Given the description of an element on the screen output the (x, y) to click on. 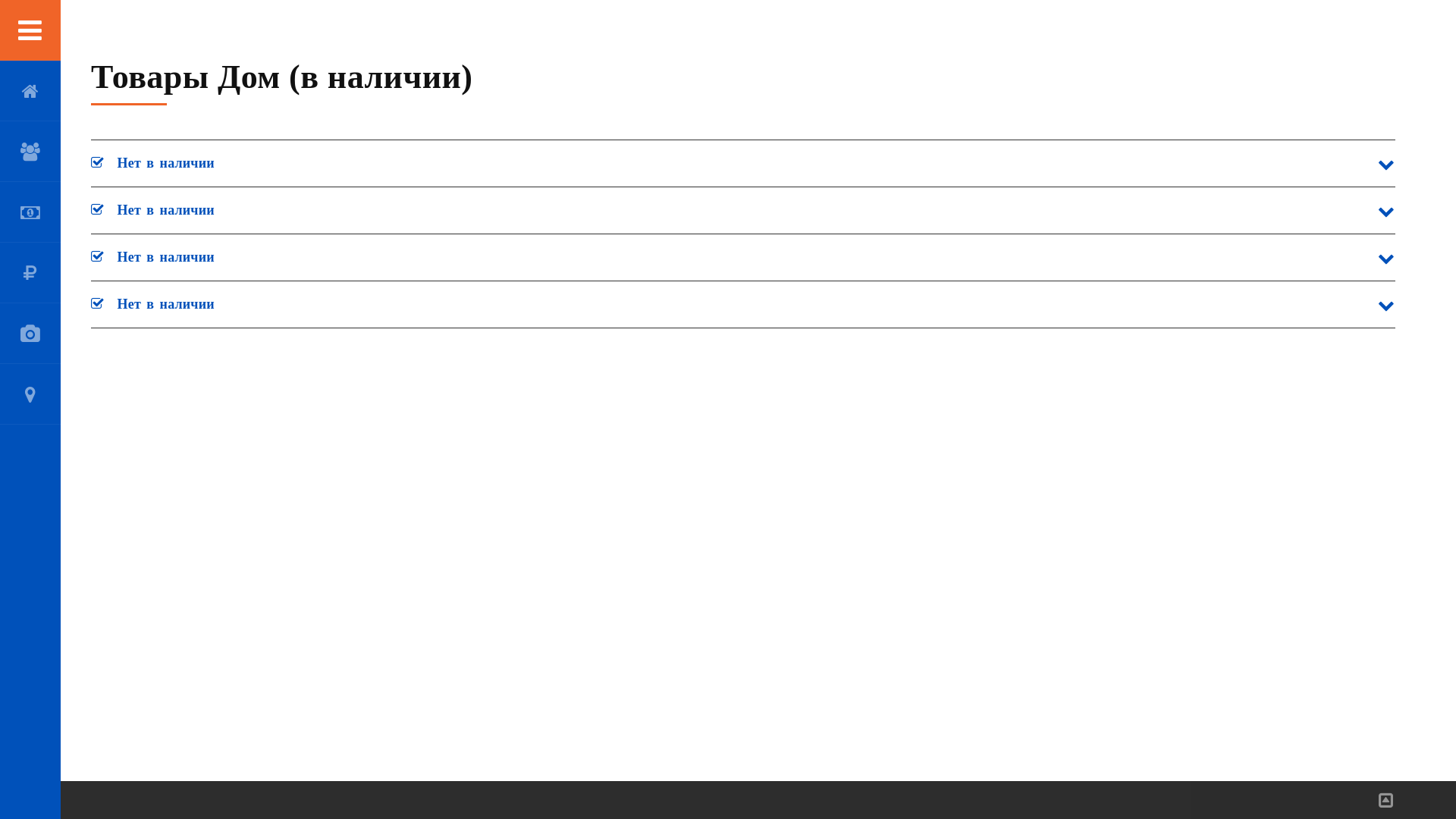
Menu Element type: text (30, 30)
